Given the description of an element on the screen output the (x, y) to click on. 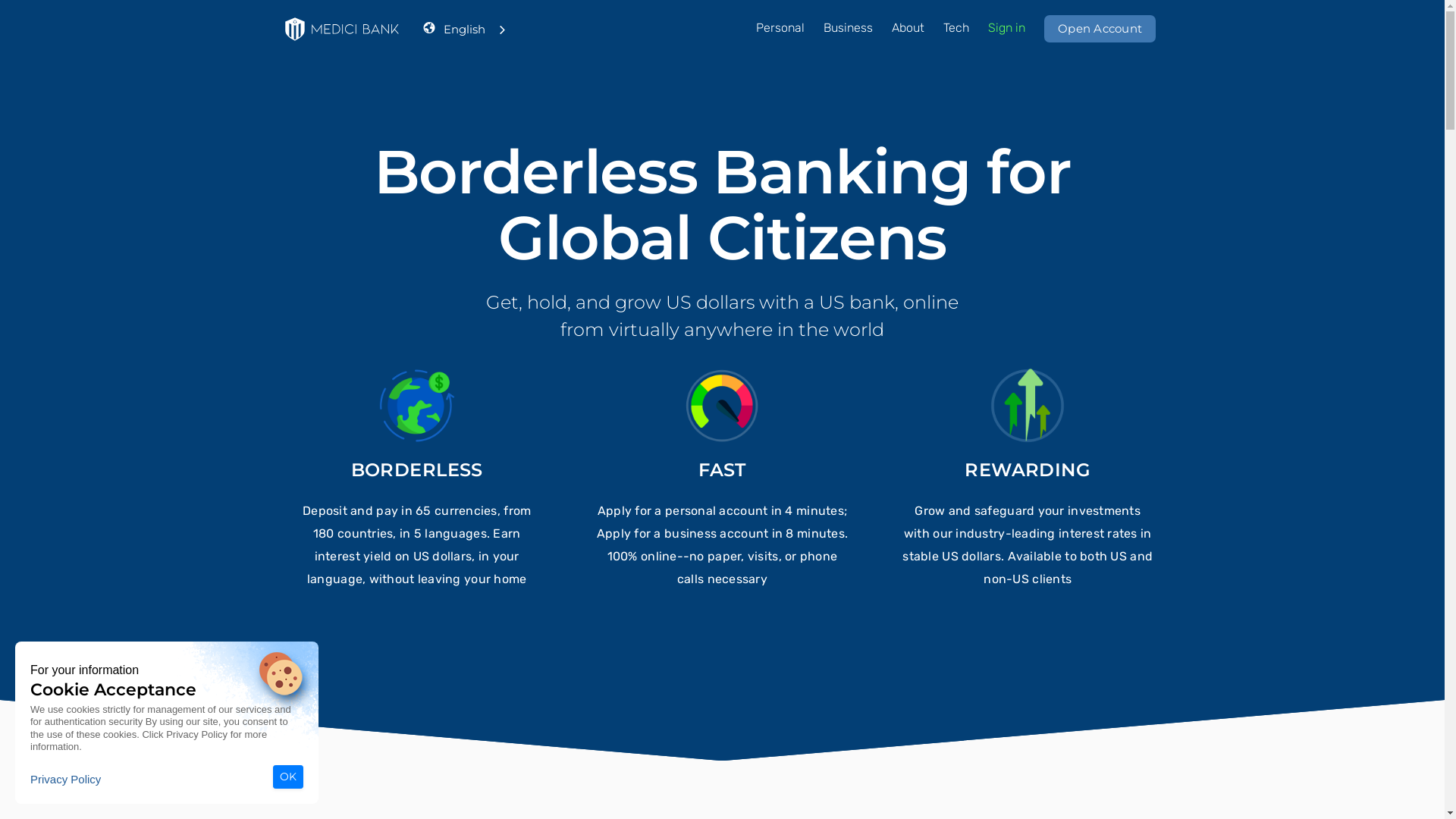
Sign in Element type: text (1006, 27)
Open Account Element type: text (1099, 28)
Business Element type: text (847, 27)
OK Element type: text (288, 776)
Privacy Policy Element type: text (65, 778)
About Element type: text (907, 27)
Personal Element type: text (780, 27)
Tech Element type: text (956, 27)
English Element type: text (475, 29)
